Given the description of an element on the screen output the (x, y) to click on. 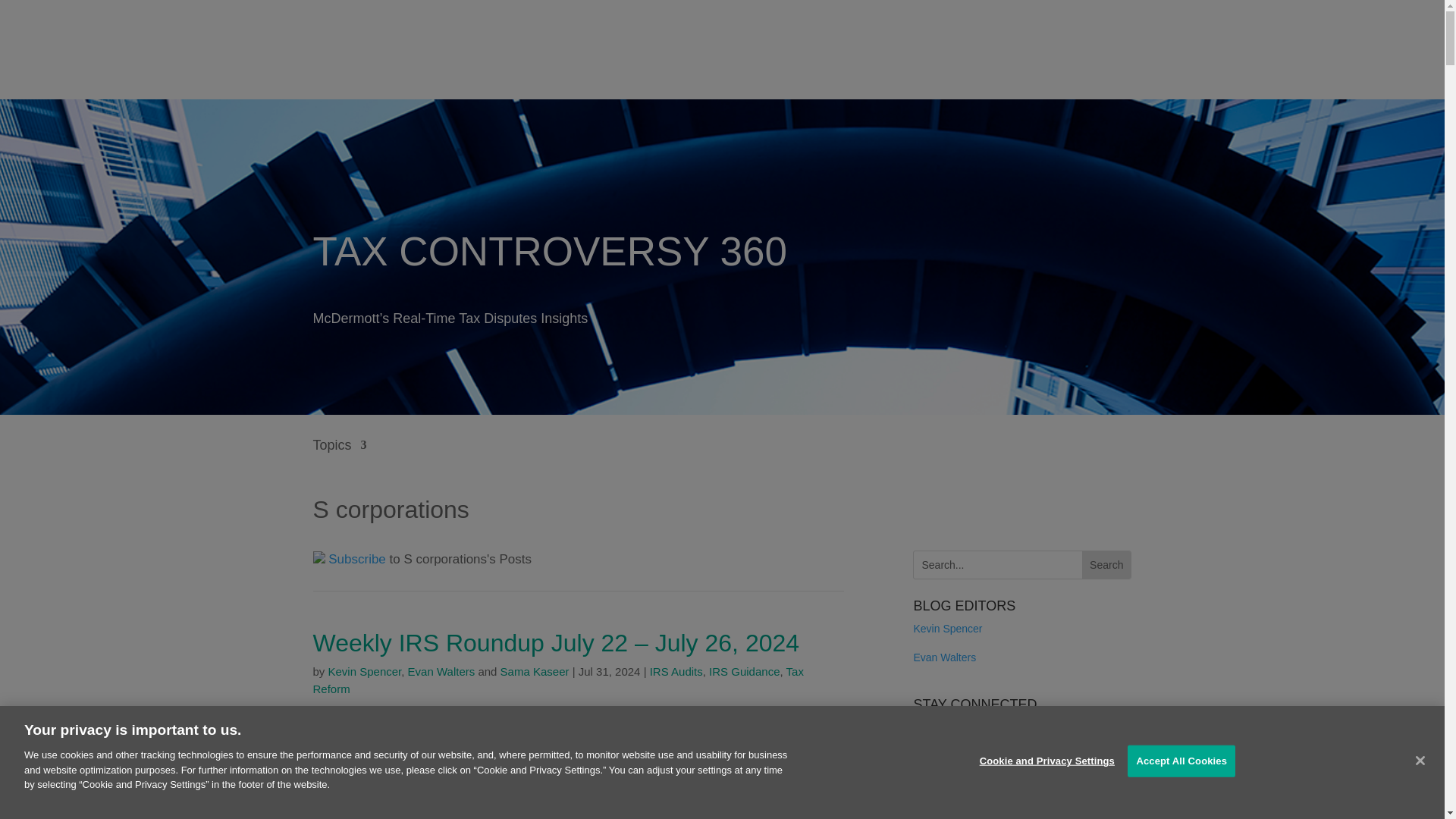
Evan Walters (441, 671)
Follow on RSS (349, 559)
Topics (339, 455)
Posts by Kevin Spencer (365, 671)
Kevin Spencer (365, 671)
Search (1106, 564)
Subscribe (349, 559)
Search (1106, 564)
Posts by Evan Walters (441, 671)
Sama Kaseer (534, 671)
